Given the description of an element on the screen output the (x, y) to click on. 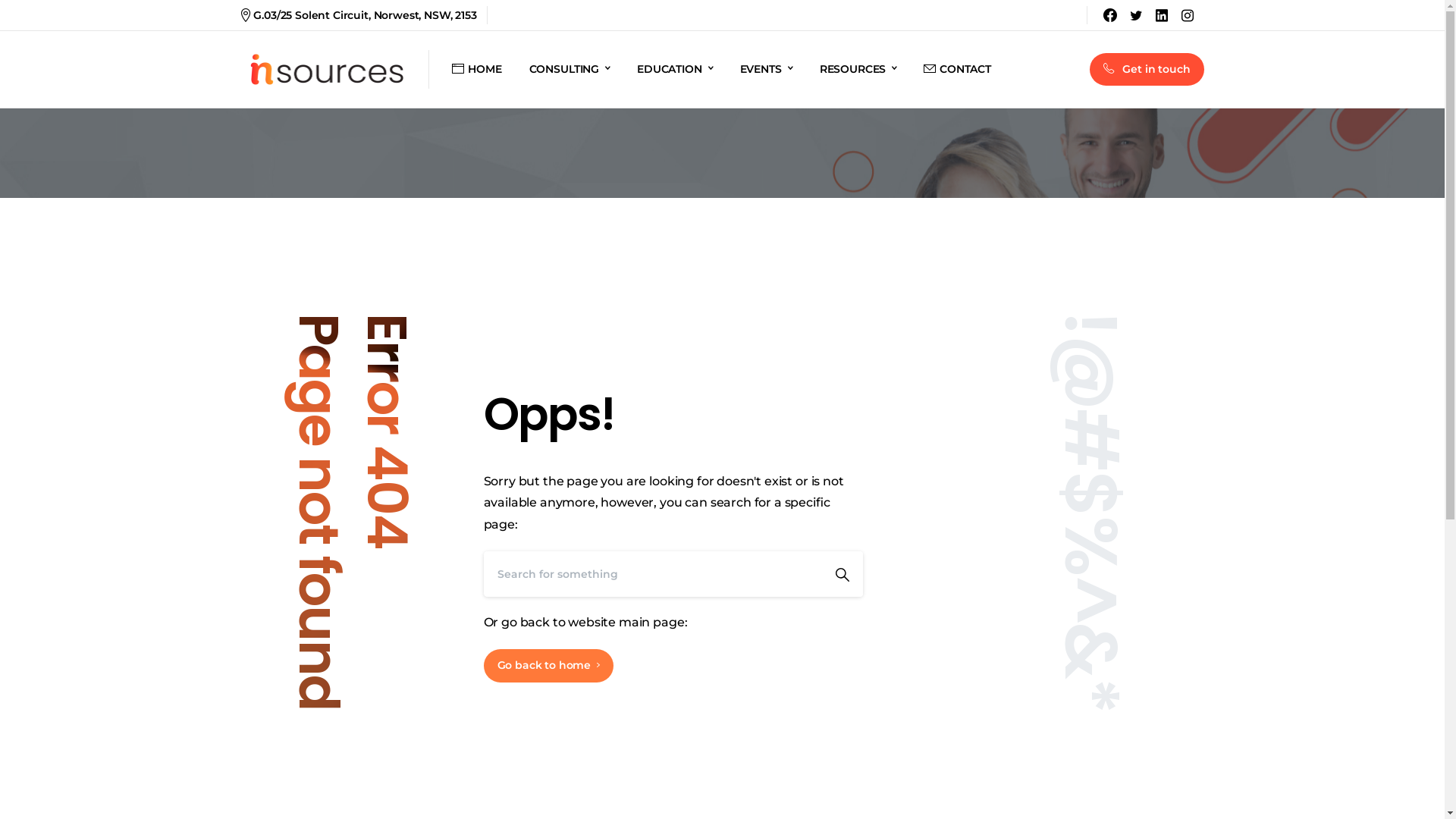
twitter Element type: hover (1135, 14)
RESOURCES Element type: text (858, 69)
CONSULTING Element type: text (569, 69)
instagram Element type: hover (1187, 14)
linkedin Element type: hover (1161, 14)
CONTACT Element type: text (957, 69)
EVENTS Element type: text (766, 69)
Go back to home Element type: text (548, 665)
EDUCATION Element type: text (674, 69)
Shape Element type: text (842, 573)
Facebook Element type: hover (1110, 14)
HOME Element type: text (476, 69)
Get in touch Element type: text (1146, 69)
